Given the description of an element on the screen output the (x, y) to click on. 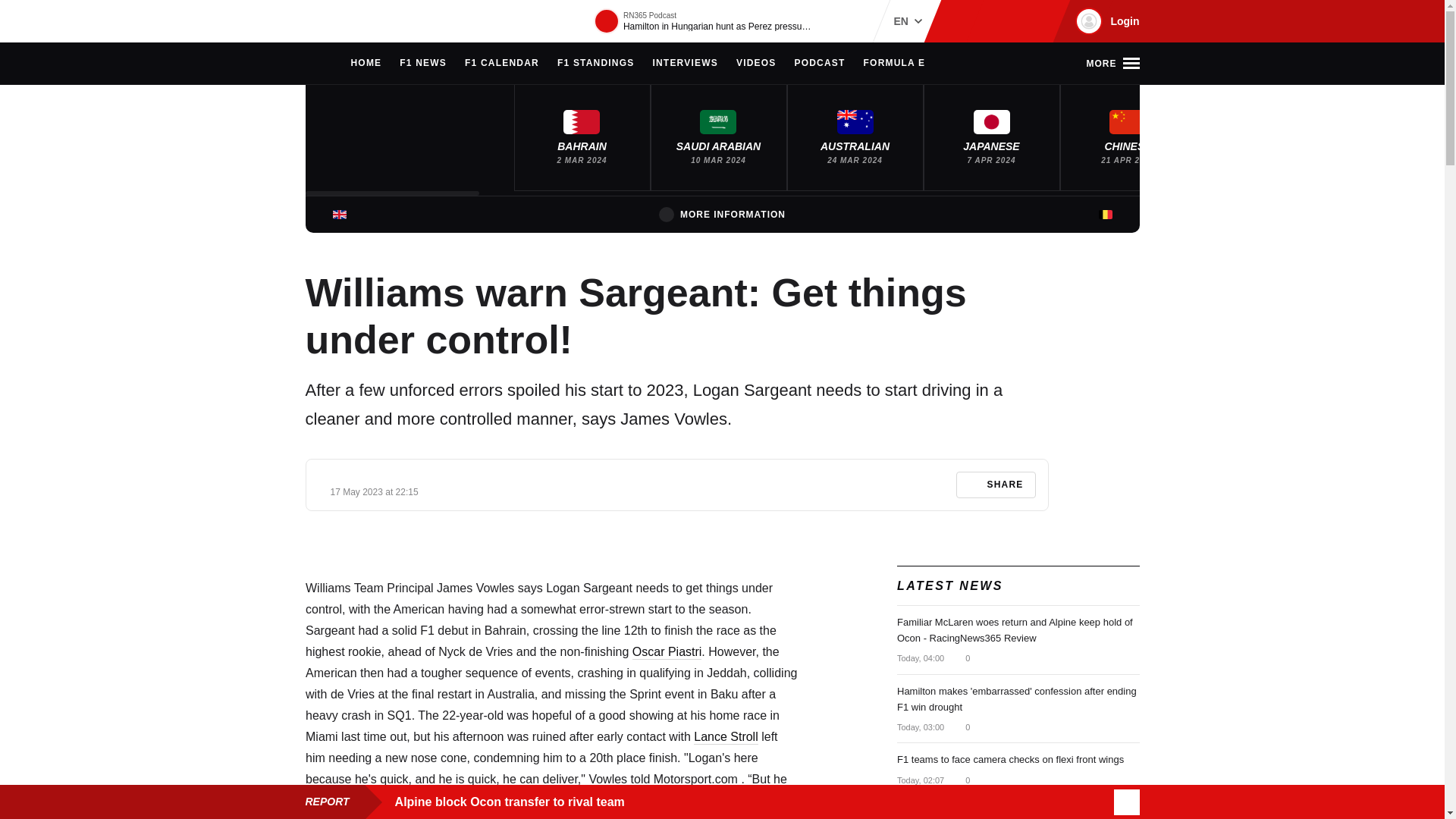
F1 NEWS (422, 63)
Wednesday, 17 May 2023 at 22:15 (374, 491)
RacingNews365 (350, 21)
FORMULA E (894, 63)
RacingNews365 on X (1010, 21)
MORE INFORMATION (722, 214)
RacingNews365 on Facebook (986, 21)
RacingNews365 on YouTube (1034, 21)
INTERVIEWS (684, 63)
Login (1104, 21)
VIDEOS (756, 63)
PODCAST (818, 63)
RacingNews365 on Instagram (962, 21)
F1 CALENDAR (501, 63)
F1 STANDINGS (595, 63)
